Given the description of an element on the screen output the (x, y) to click on. 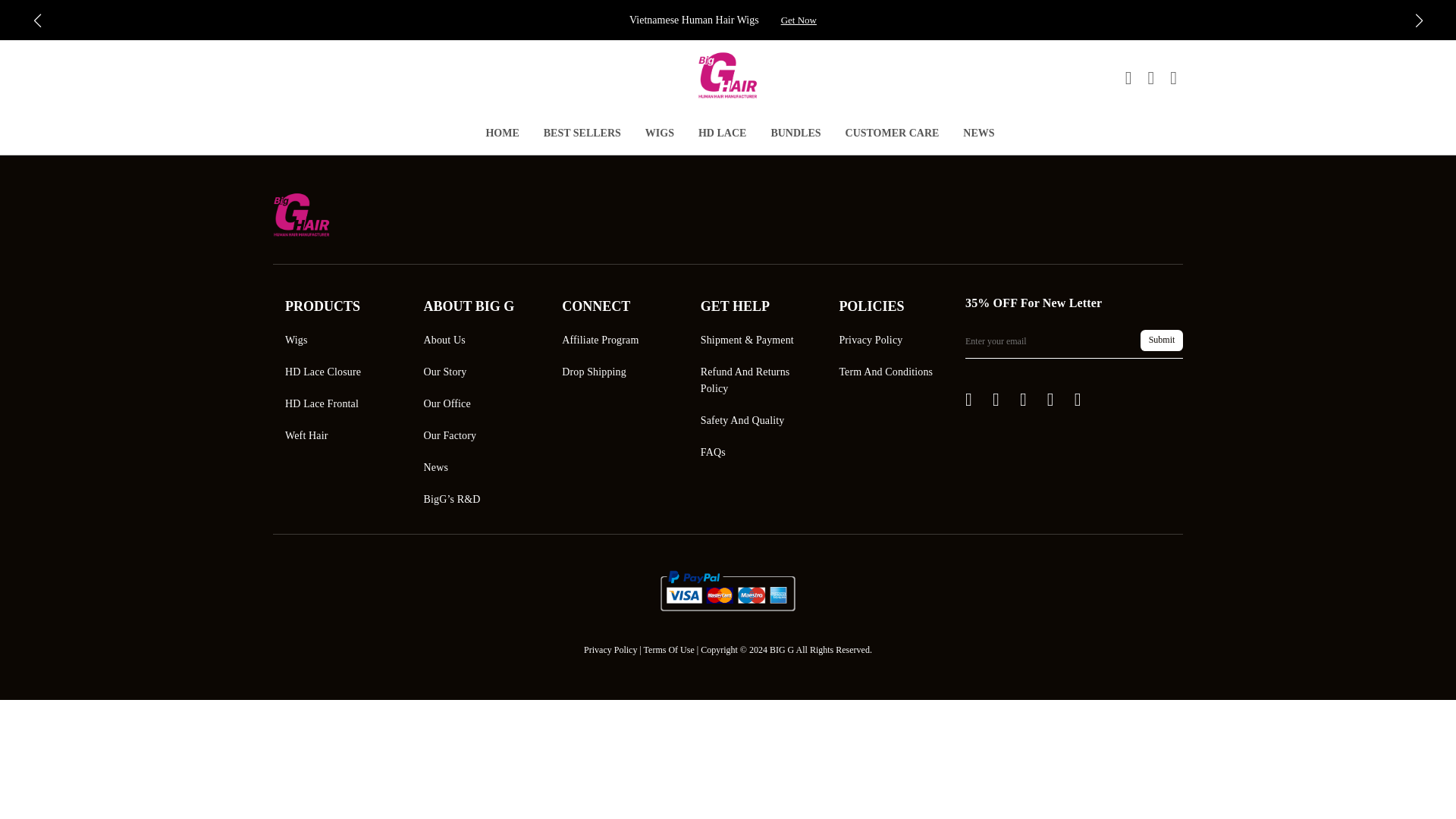
Submit (1161, 340)
HD Lace (721, 134)
Best Sellers (582, 134)
Customer Care (892, 134)
Get Now (799, 20)
Bundles (795, 134)
